Given the description of an element on the screen output the (x, y) to click on. 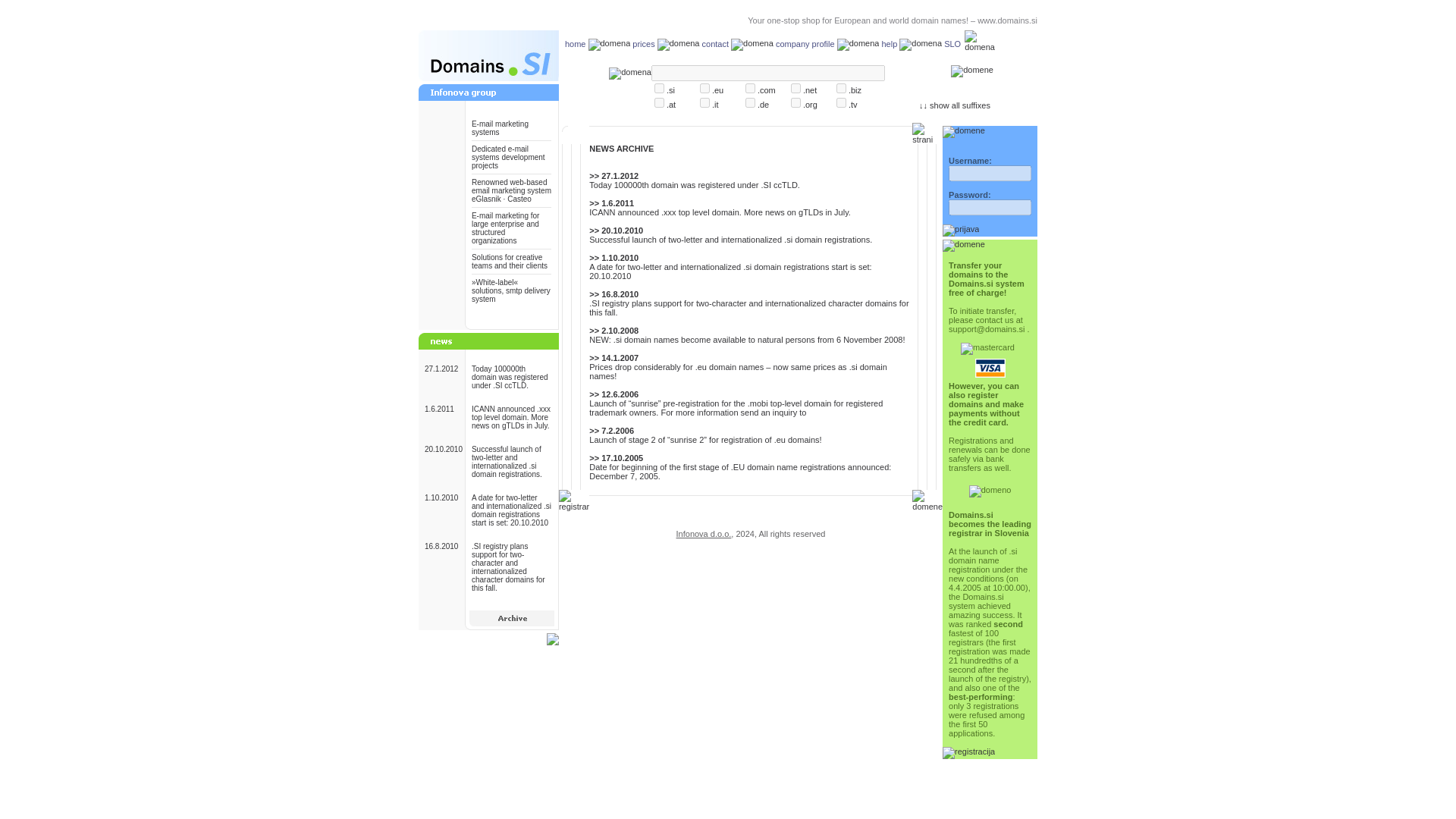
tv (840, 102)
contact (715, 43)
net (795, 88)
si (658, 88)
Dedicated e-mail systems development projects (507, 156)
Casteo (518, 198)
E-mail marketing systems (499, 127)
company profile (805, 43)
Renowned web-based email marketing system (511, 186)
biz (840, 88)
de (750, 102)
org (795, 102)
help (888, 43)
SLO (951, 43)
